Given the description of an element on the screen output the (x, y) to click on. 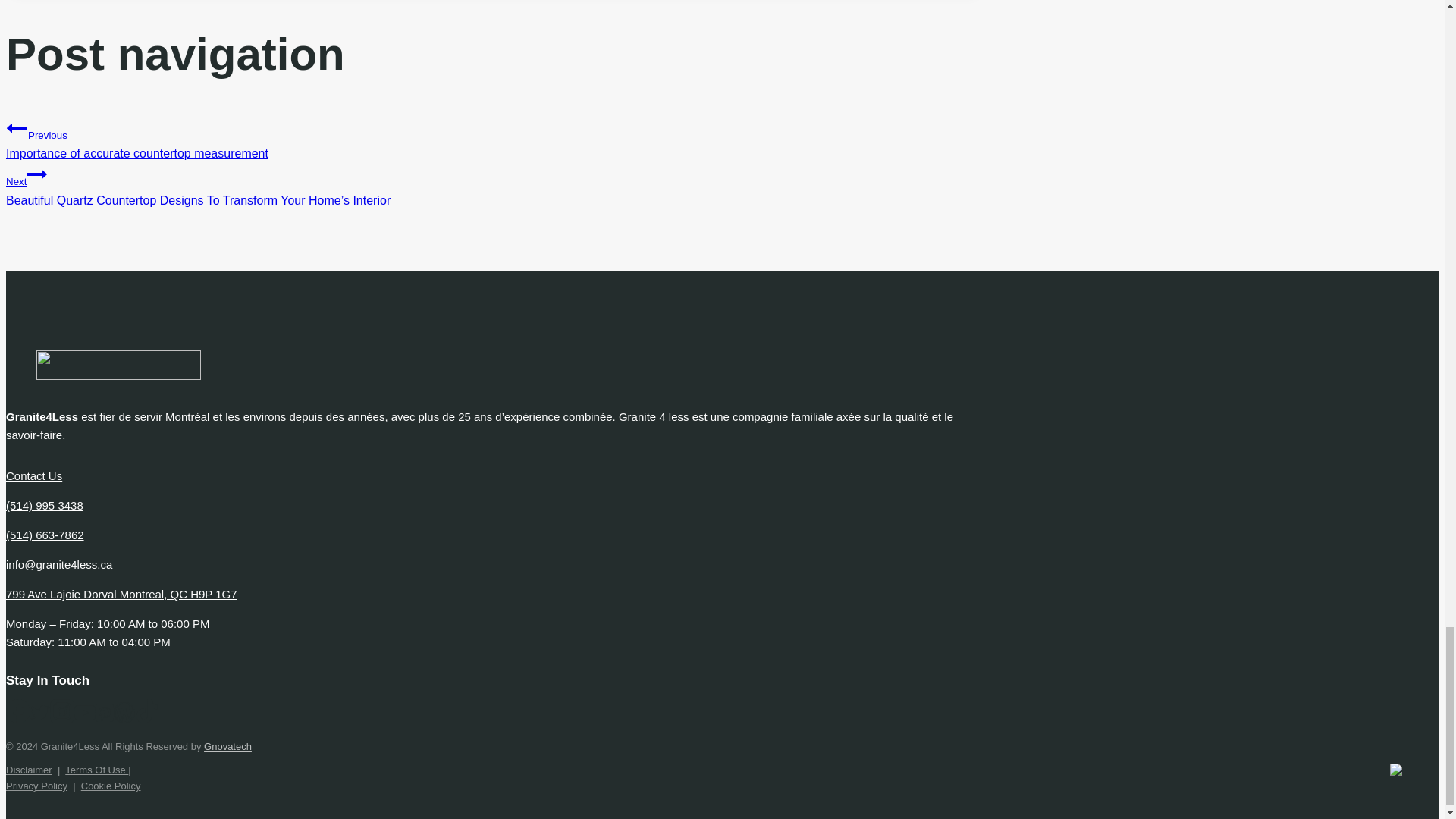
Facebook (17, 711)
YouTube (85, 712)
Twitter (39, 712)
Previous (16, 127)
Continue (36, 174)
Instagram (61, 711)
